Given the description of an element on the screen output the (x, y) to click on. 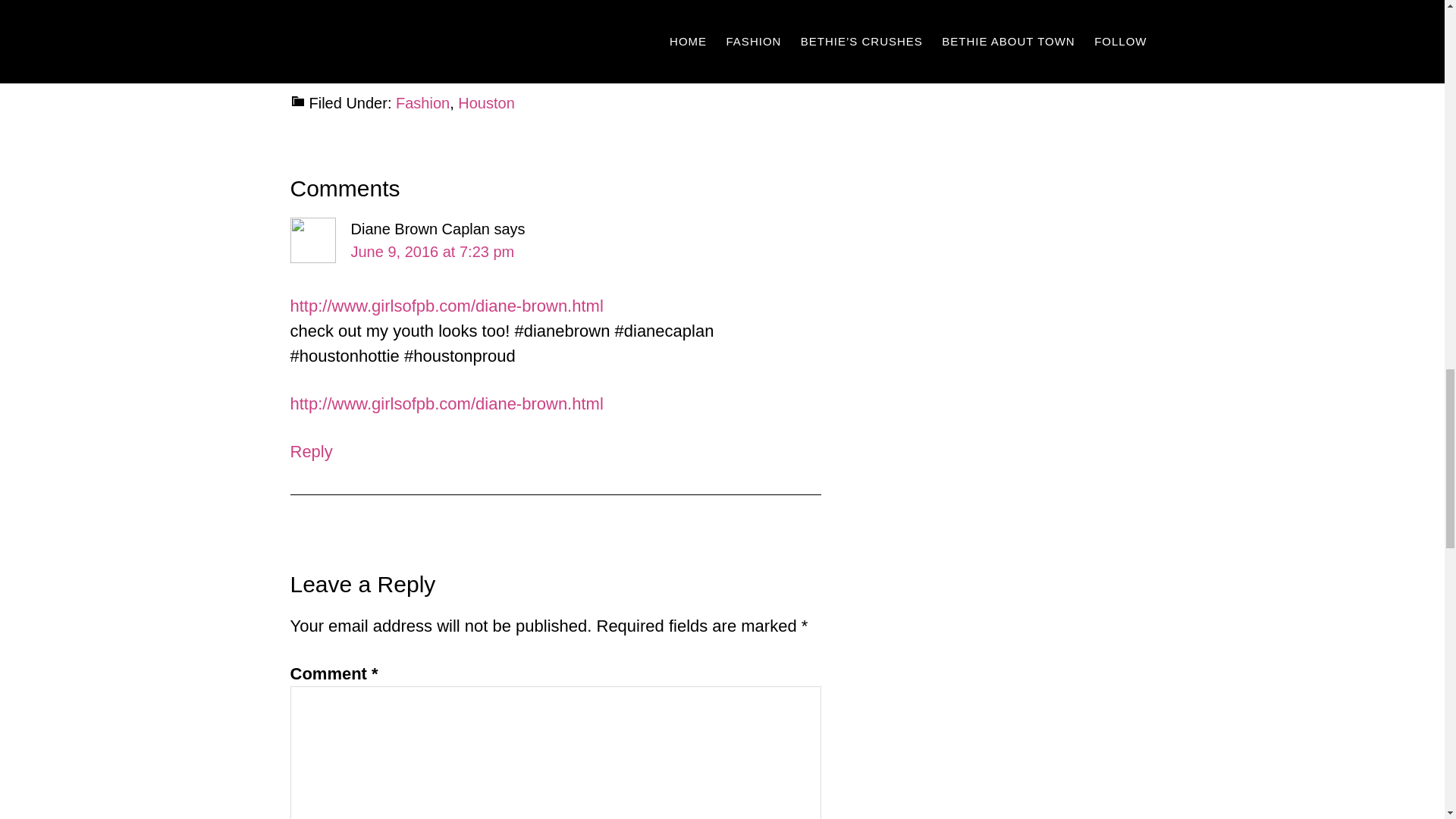
Reply (310, 451)
June 9, 2016 at 7:23 pm (431, 251)
Fashion (422, 103)
Houston (486, 103)
